Given the description of an element on the screen output the (x, y) to click on. 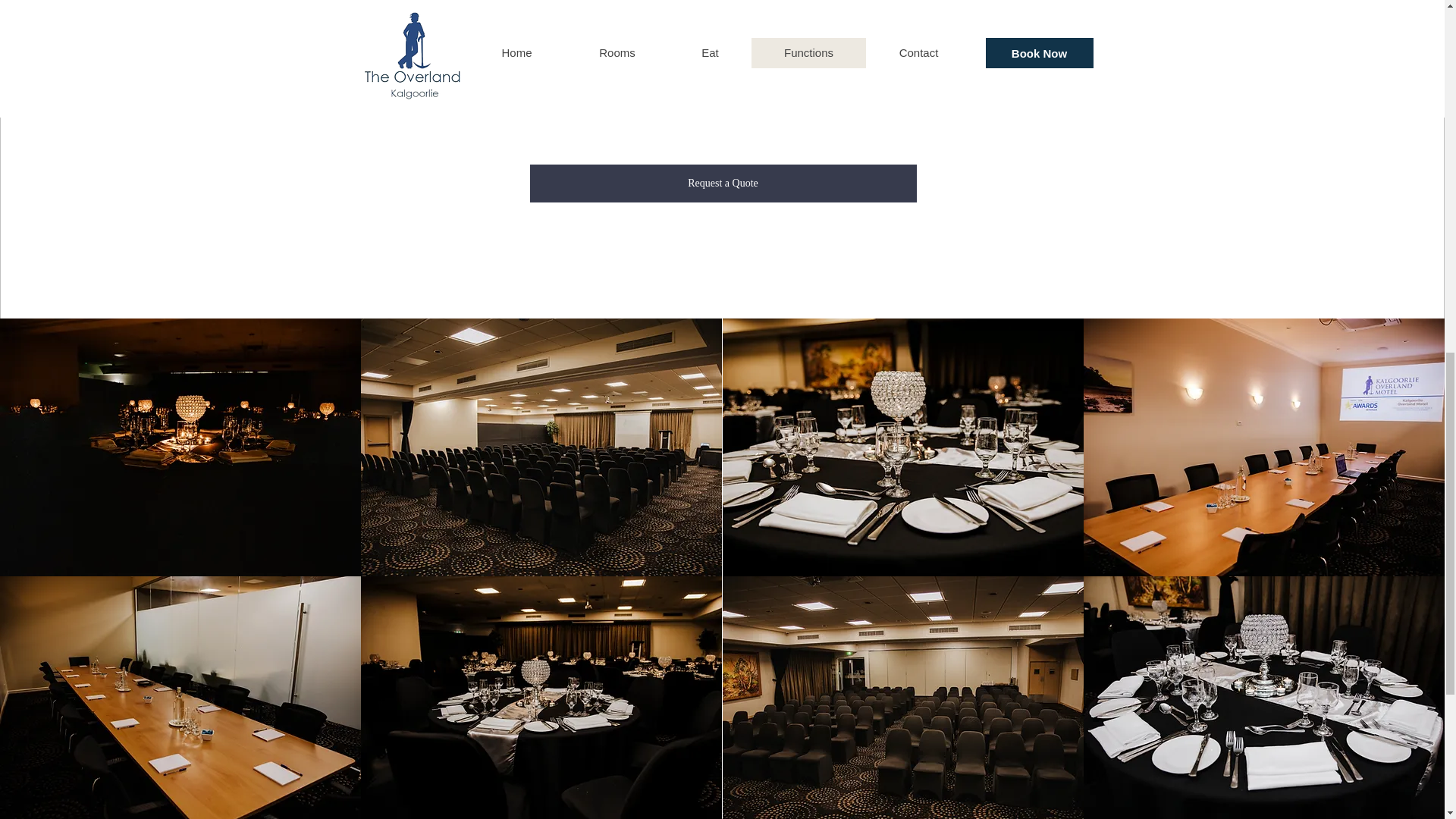
Request a Quote (722, 183)
